Given the description of an element on the screen output the (x, y) to click on. 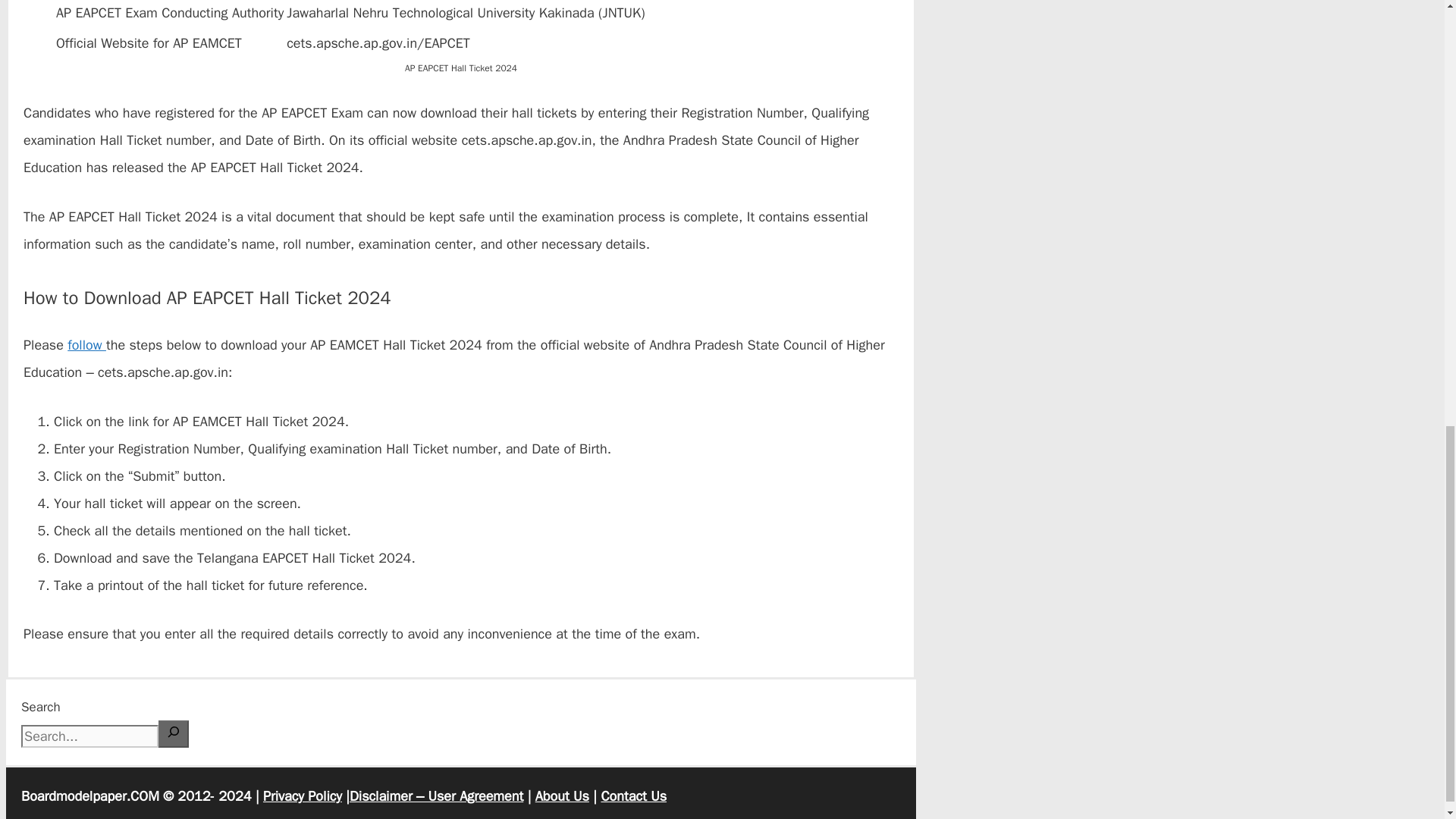
About Us (562, 795)
follow (86, 344)
Contact Us (632, 795)
Privacy Policy (302, 795)
